Given the description of an element on the screen output the (x, y) to click on. 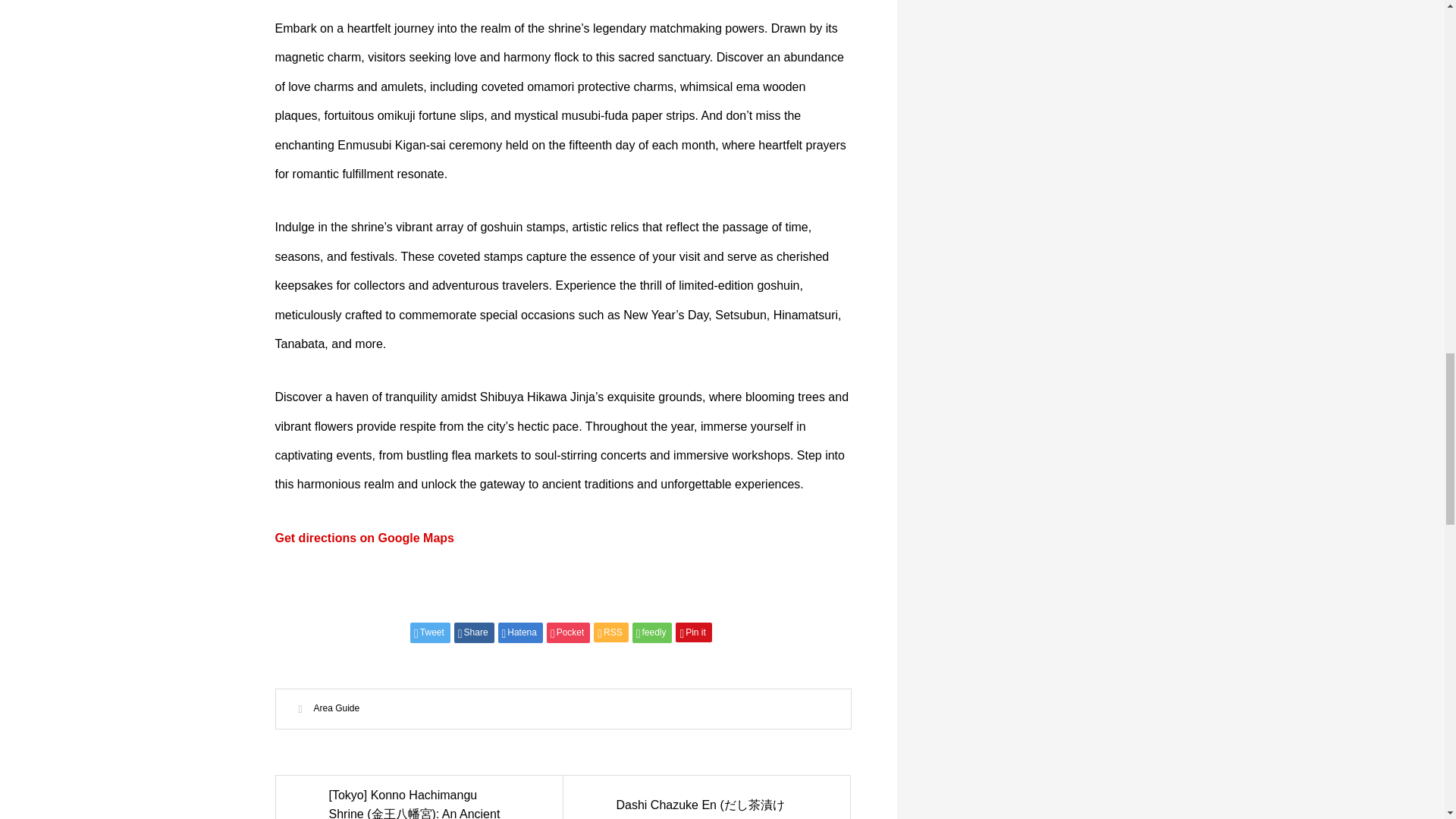
RSS (610, 632)
feedly (651, 632)
Tweet (429, 632)
Area Guide (336, 707)
Share (474, 632)
Hatena (520, 632)
Pin it (693, 632)
Get directions on Google Maps (363, 537)
Pocket (568, 632)
